Given the description of an element on the screen output the (x, y) to click on. 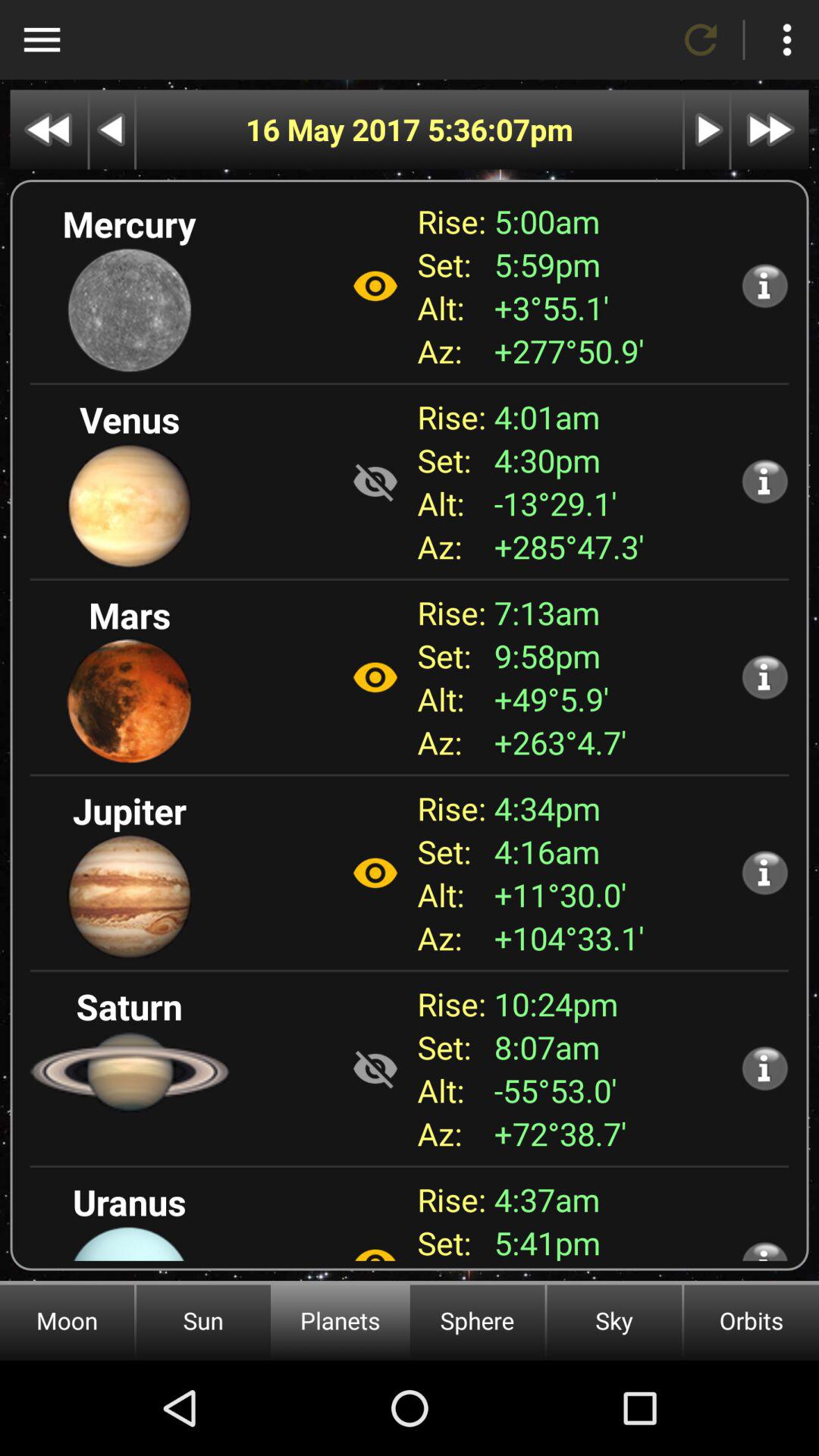
additional information (764, 285)
